Given the description of an element on the screen output the (x, y) to click on. 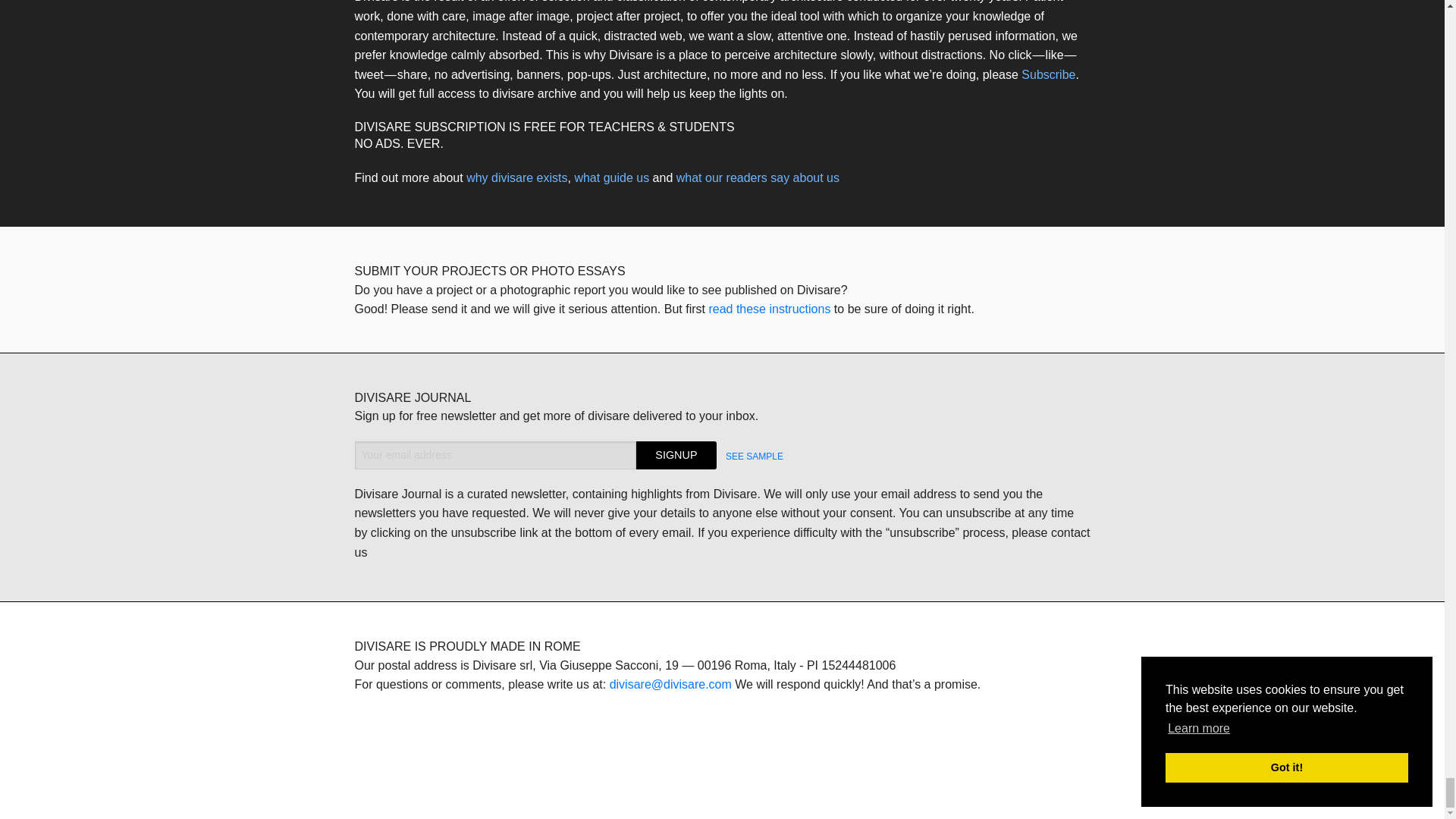
Signup (676, 455)
